Given the description of an element on the screen output the (x, y) to click on. 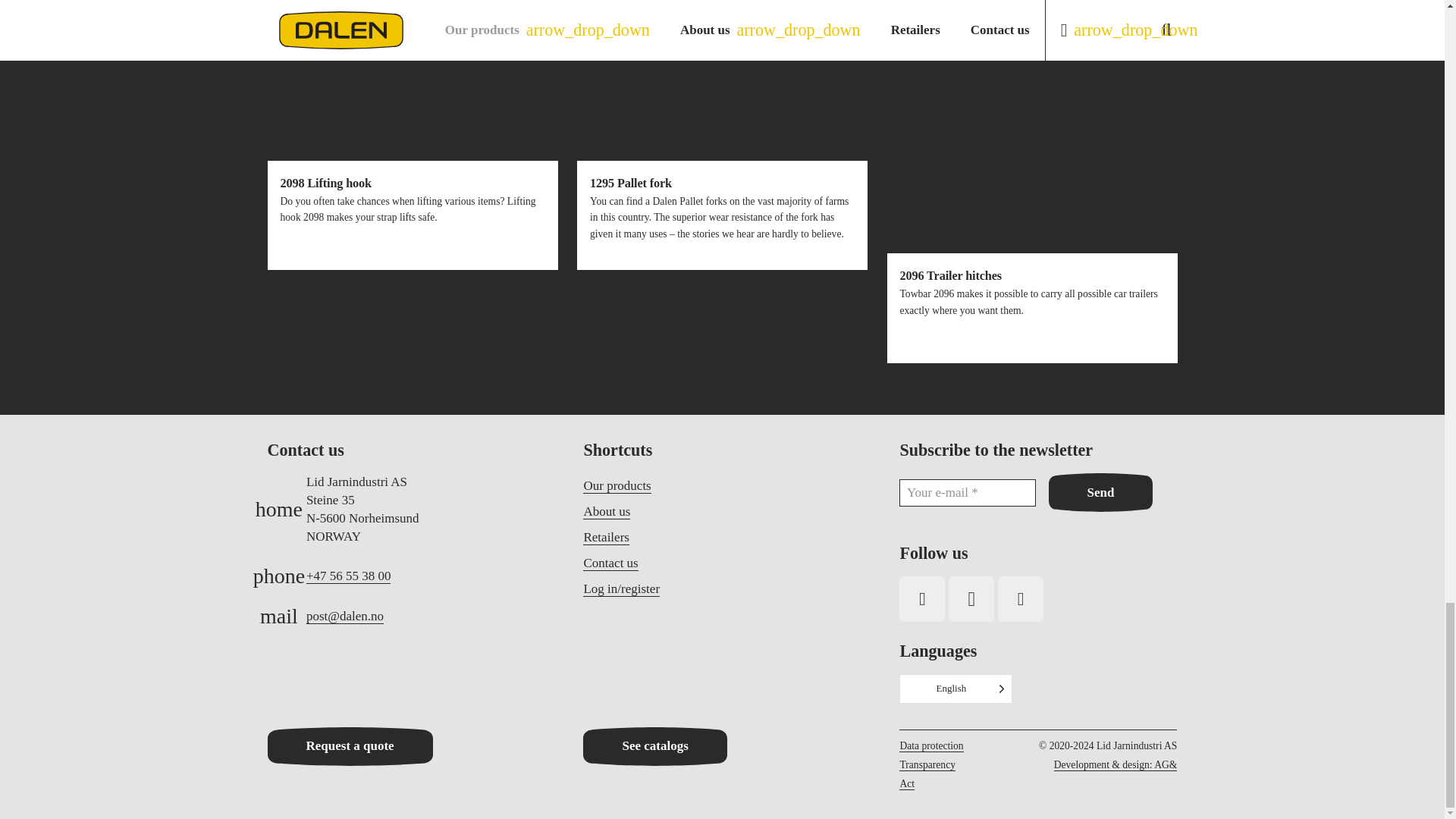
Send (1100, 492)
